Given the description of an element on the screen output the (x, y) to click on. 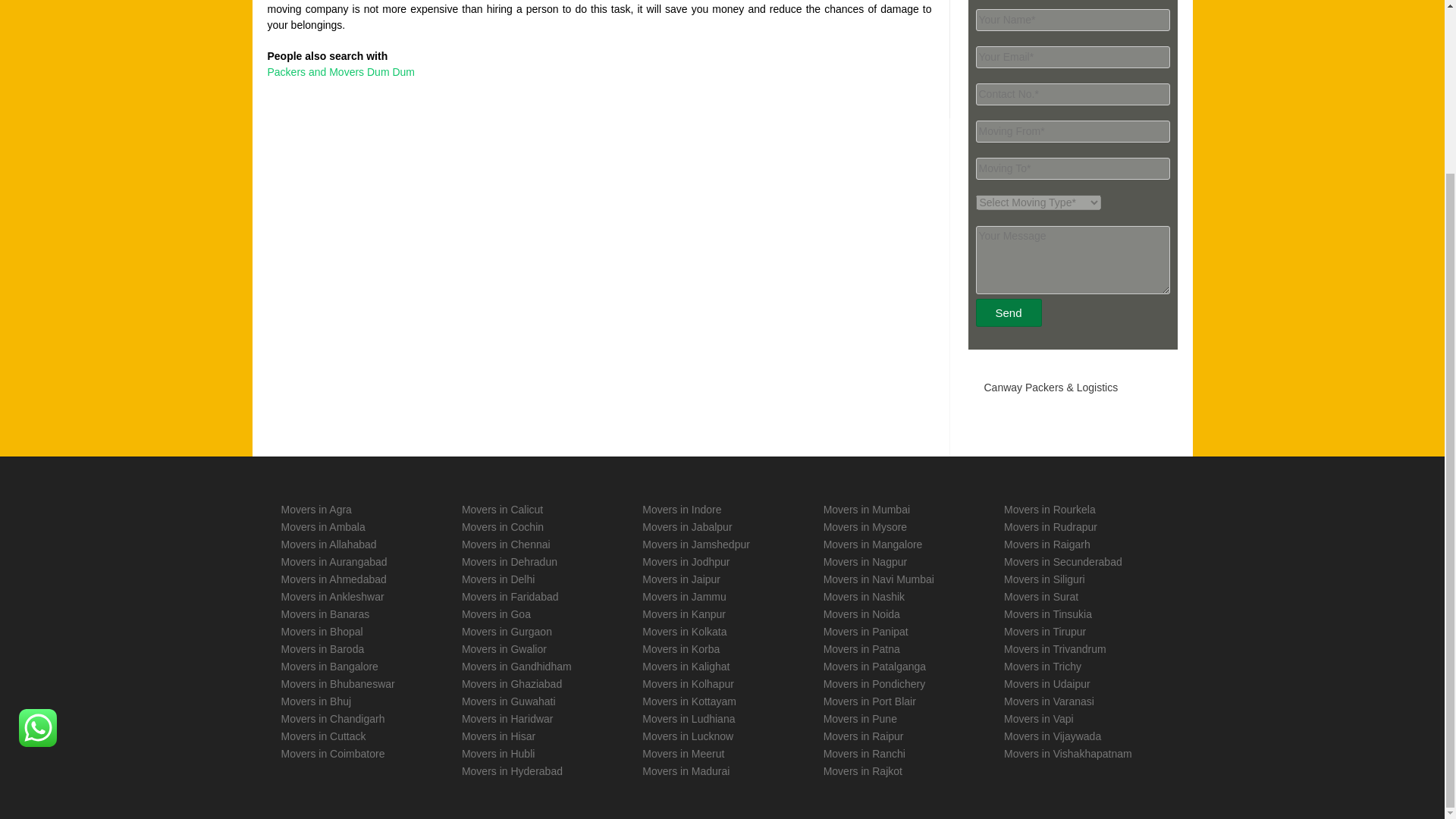
Movers in Coimbatore (332, 753)
Movers in Dehradun (509, 562)
Packers Bhuj (315, 701)
Packers Ahmedabad (333, 579)
Movers in Allahabad (328, 544)
Movers in Bhubaneswar (337, 684)
Packers Bhubaneshwar (337, 684)
Packers Allahabad (328, 544)
Movers in Agra (315, 509)
Movers in Ambala (323, 526)
Movers in Gwalior (504, 648)
Movers in Goa (496, 613)
Packers Aurangabad (334, 562)
Packers and Movers Dum Dum (340, 71)
Movers in Cochin (502, 526)
